Given the description of an element on the screen output the (x, y) to click on. 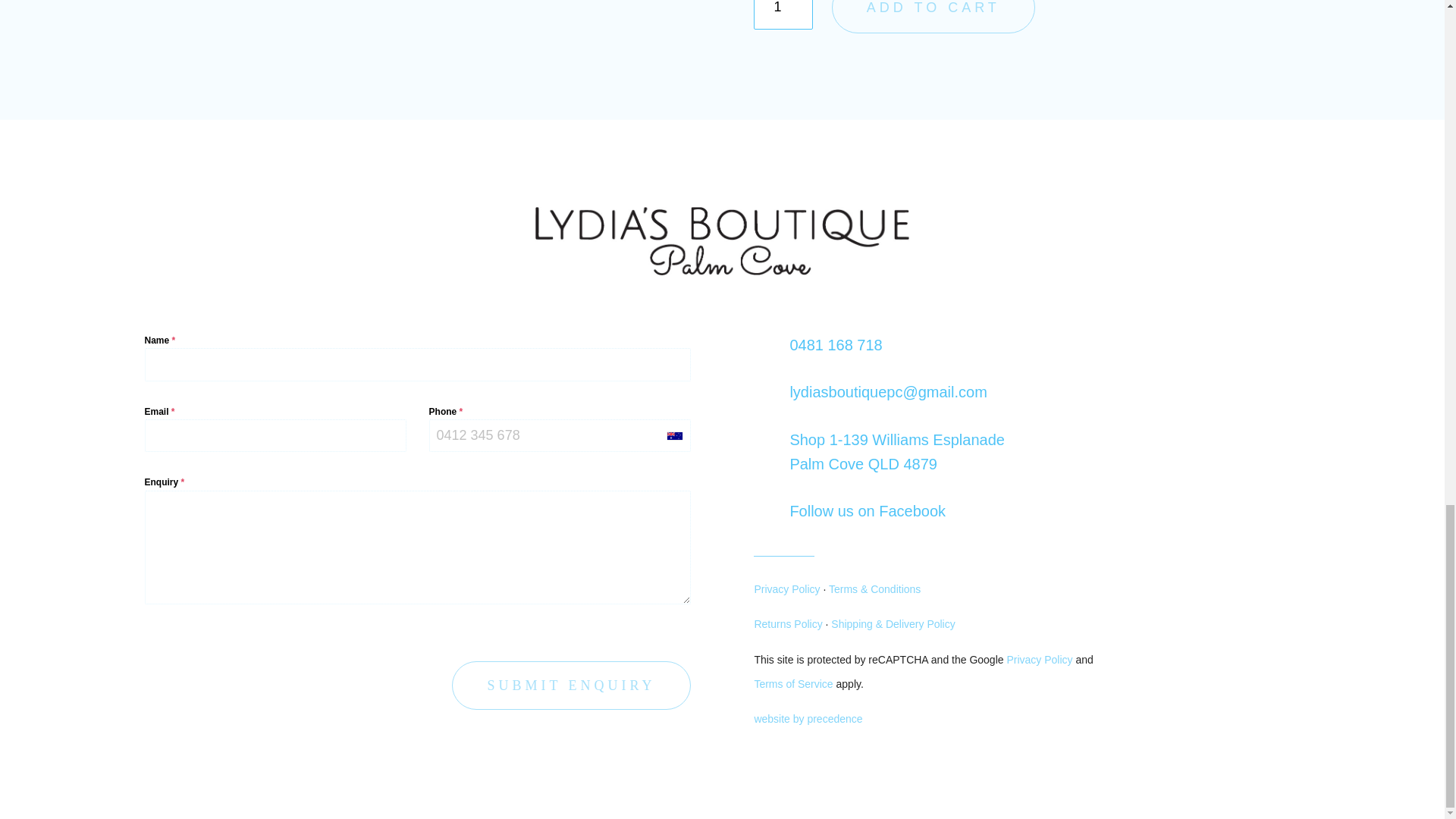
SUBMIT ENQUIRY (570, 685)
0481 168 718 (835, 344)
Follow us on Facebook (866, 510)
1 (783, 14)
ADD TO CART (933, 17)
Privacy Policy (786, 589)
Shop 1-139 Williams Esplanade (896, 439)
Palm Cove QLD 4879 (863, 463)
lydias-boutique-logo-text (721, 241)
